Given the description of an element on the screen output the (x, y) to click on. 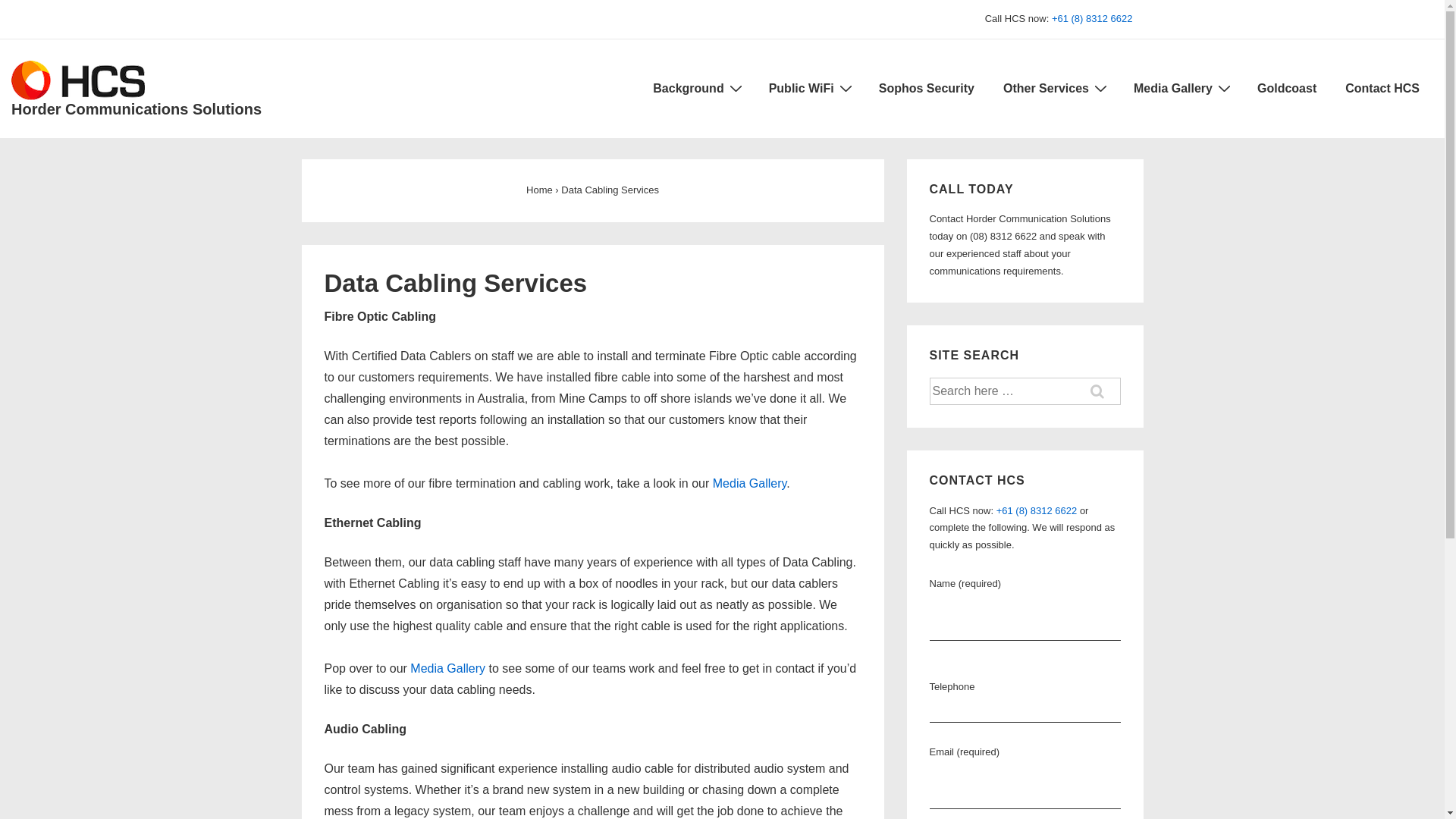
Other Services Element type: text (1053, 88)
Contact HCS Element type: text (1382, 88)
+61 (8) 8312 6622 Element type: text (1091, 18)
Horder Communications Solutions Element type: text (136, 108)
Sophos Security Element type: text (926, 88)
Goldcoast Element type: text (1286, 88)
+61 (8) 8312 6622 Element type: text (1036, 510)
Background Element type: text (696, 88)
Media Gallery Element type: text (1181, 88)
Media Gallery Element type: text (749, 482)
Public WiFi Element type: text (809, 88)
Media Gallery Element type: text (447, 668)
Home Element type: text (539, 189)
